Given the description of an element on the screen output the (x, y) to click on. 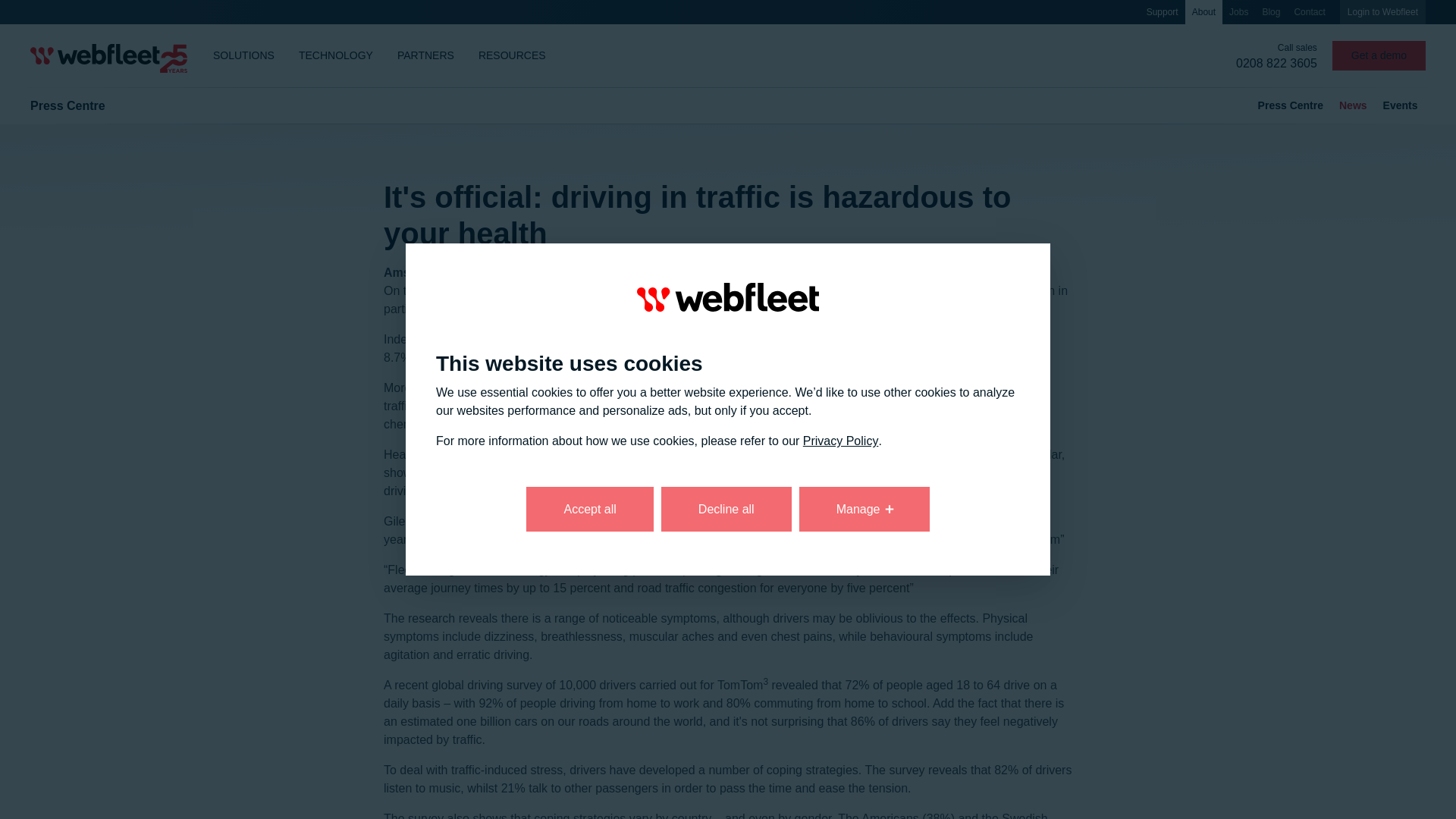
News (1353, 105)
Jobs (1239, 12)
SOLUTIONS (243, 55)
Press Centre (67, 105)
Blog (1271, 12)
PARTNERS (425, 55)
TECHNOLOGY (335, 55)
Get a demo (1378, 55)
Press Centre (1289, 105)
Contact (1309, 12)
About (1204, 12)
Support (1162, 12)
Events (1399, 105)
RESOURCES (511, 55)
